Given the description of an element on the screen output the (x, y) to click on. 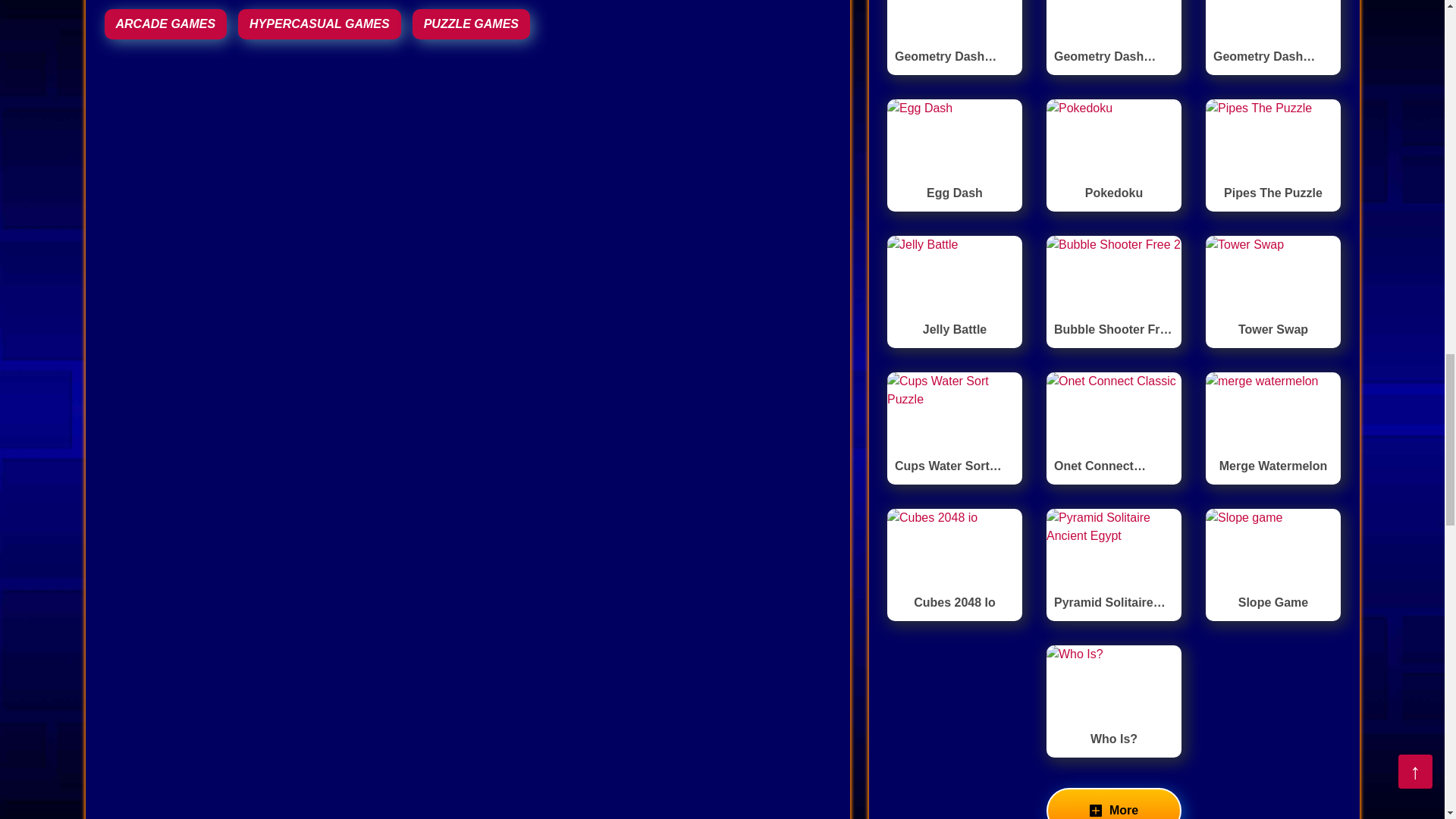
ARCADE GAMES (165, 24)
PUZZLE GAMES (470, 24)
HYPERCASUAL GAMES (319, 24)
